Given the description of an element on the screen output the (x, y) to click on. 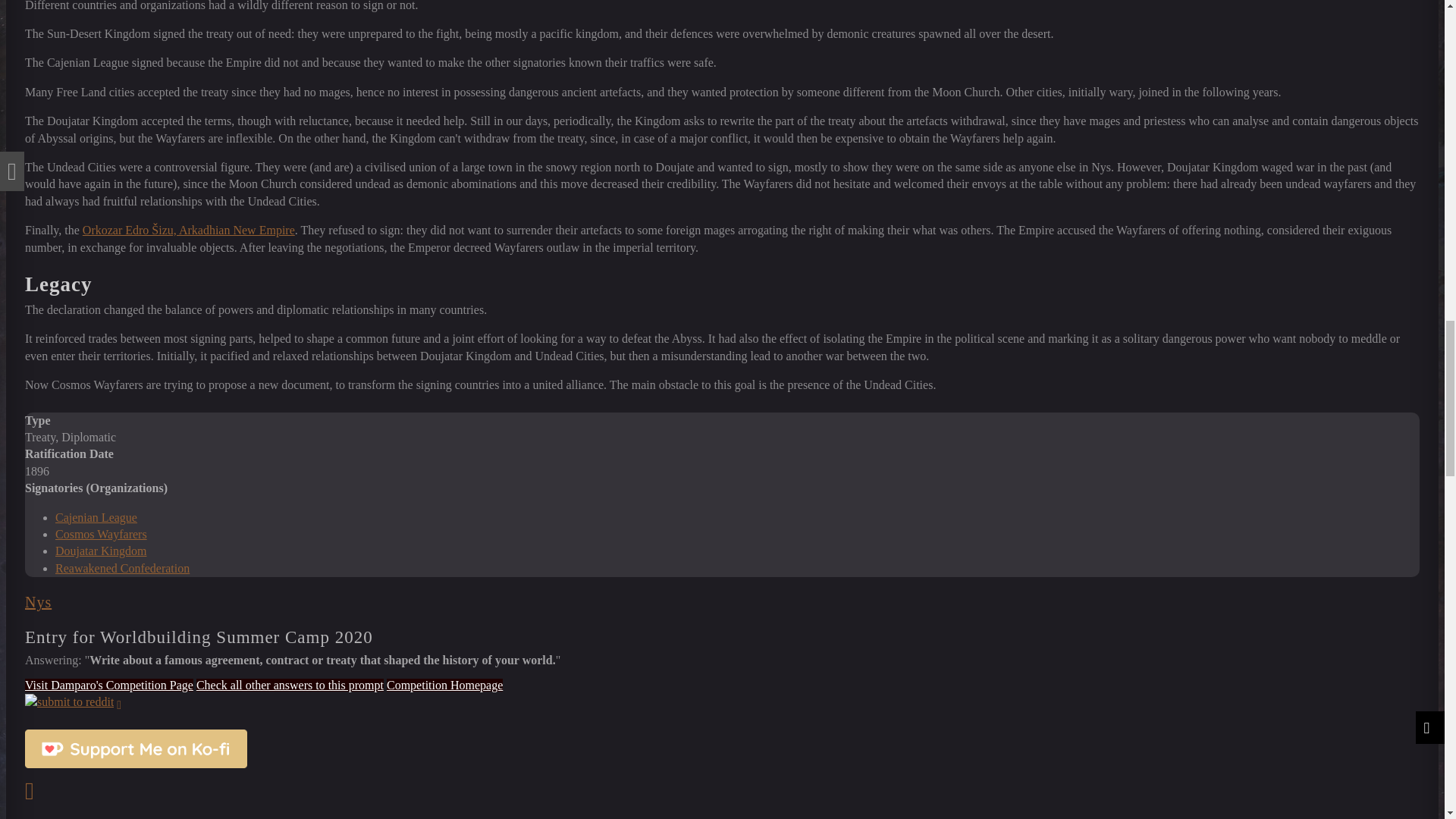
Powerful individuals devoted to the fight against the Abyss (101, 533)
Cosmos Wayfarers (101, 533)
Cajenian League (95, 517)
Buy Damparo a coffee! (135, 748)
An alliance in the Archipelago born to fight the Empire. (95, 517)
Doujatar Kingdom (101, 550)
